Given the description of an element on the screen output the (x, y) to click on. 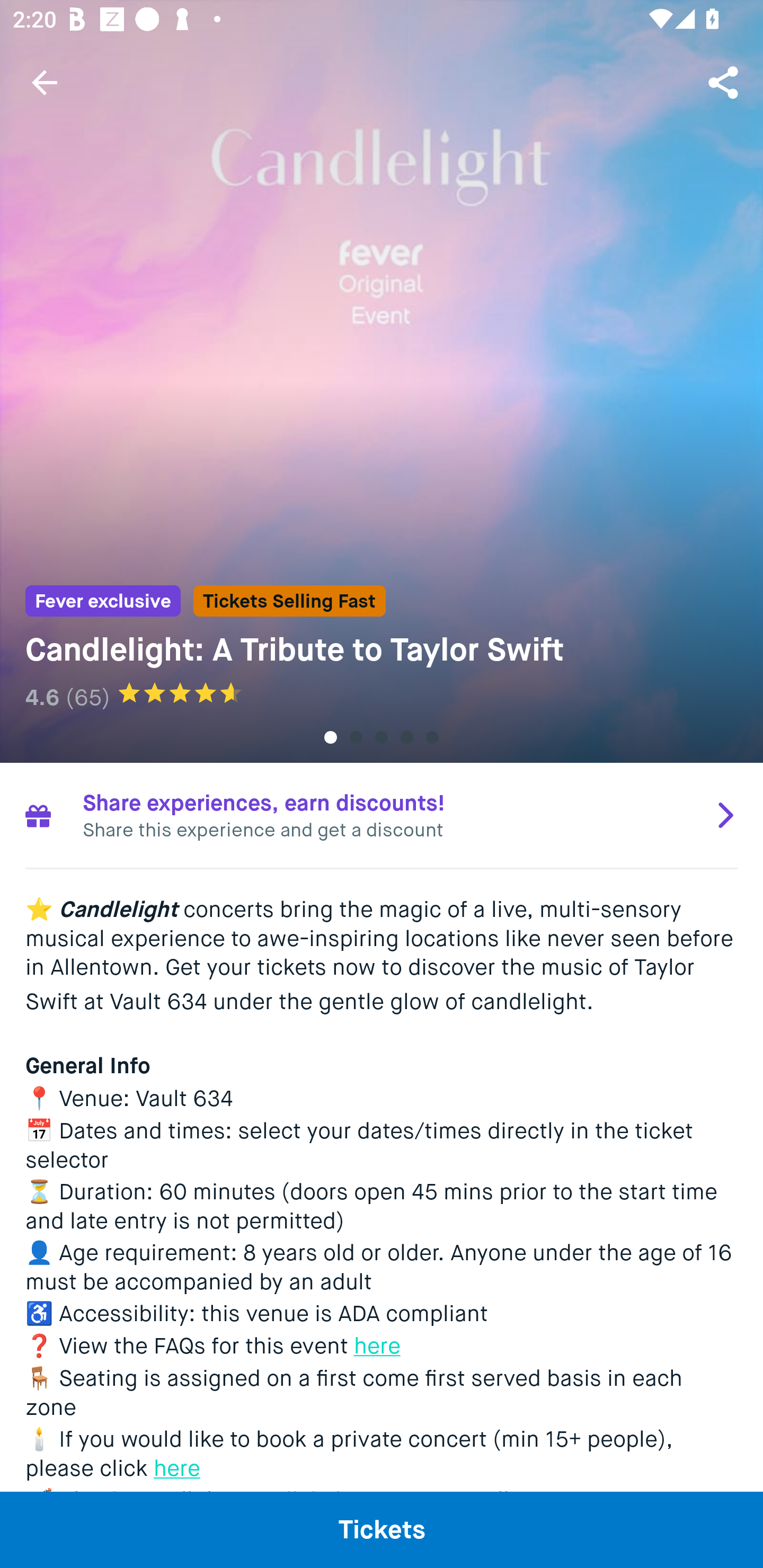
Navigate up (44, 82)
Share (724, 81)
(65) (87, 697)
Tickets (381, 1529)
